Given the description of an element on the screen output the (x, y) to click on. 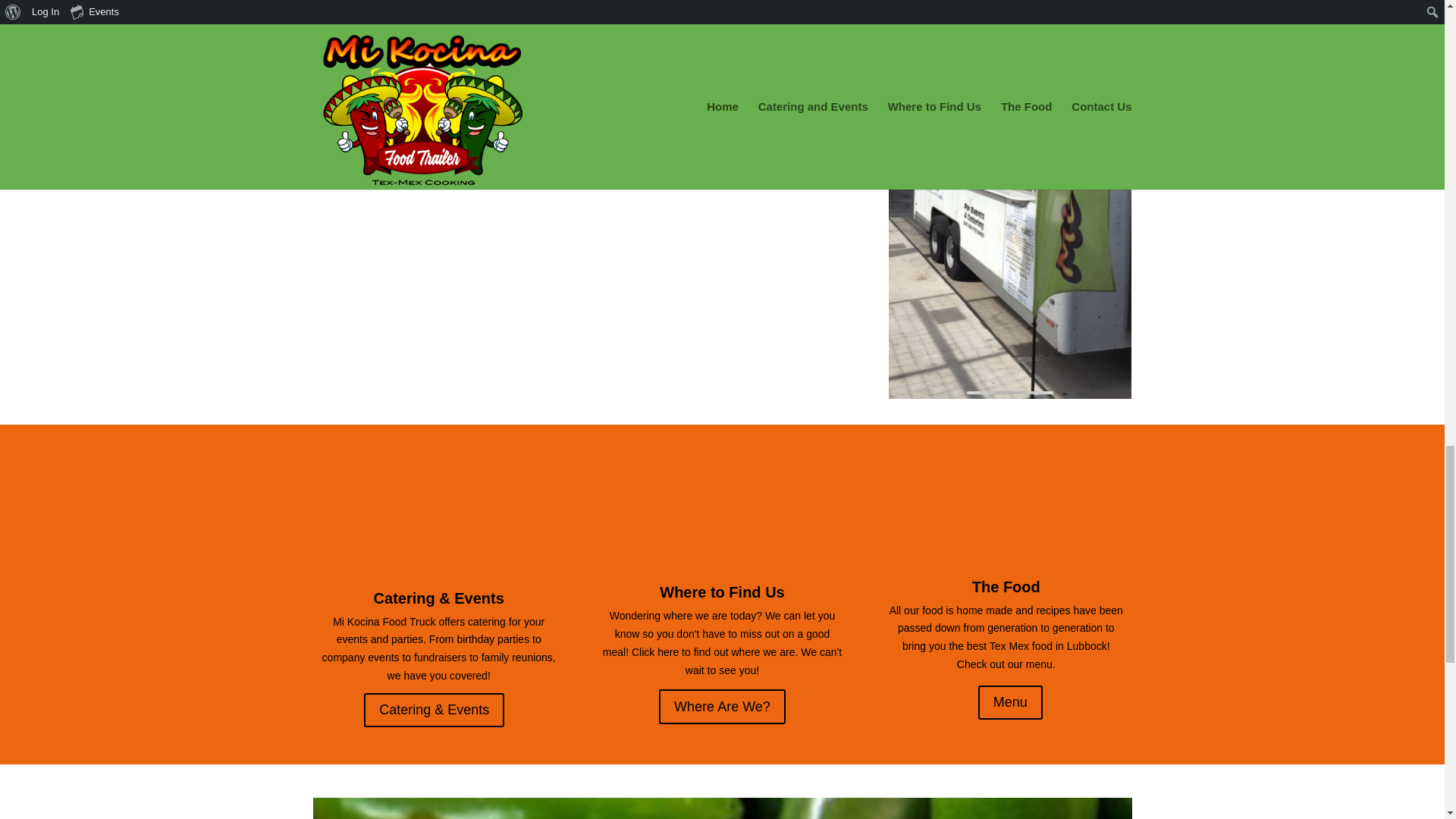
Where Are We? (722, 706)
7064C0D1-E853-4549-BC8D-D2E473476B07 (1009, 199)
Menu (1010, 702)
